Given the description of an element on the screen output the (x, y) to click on. 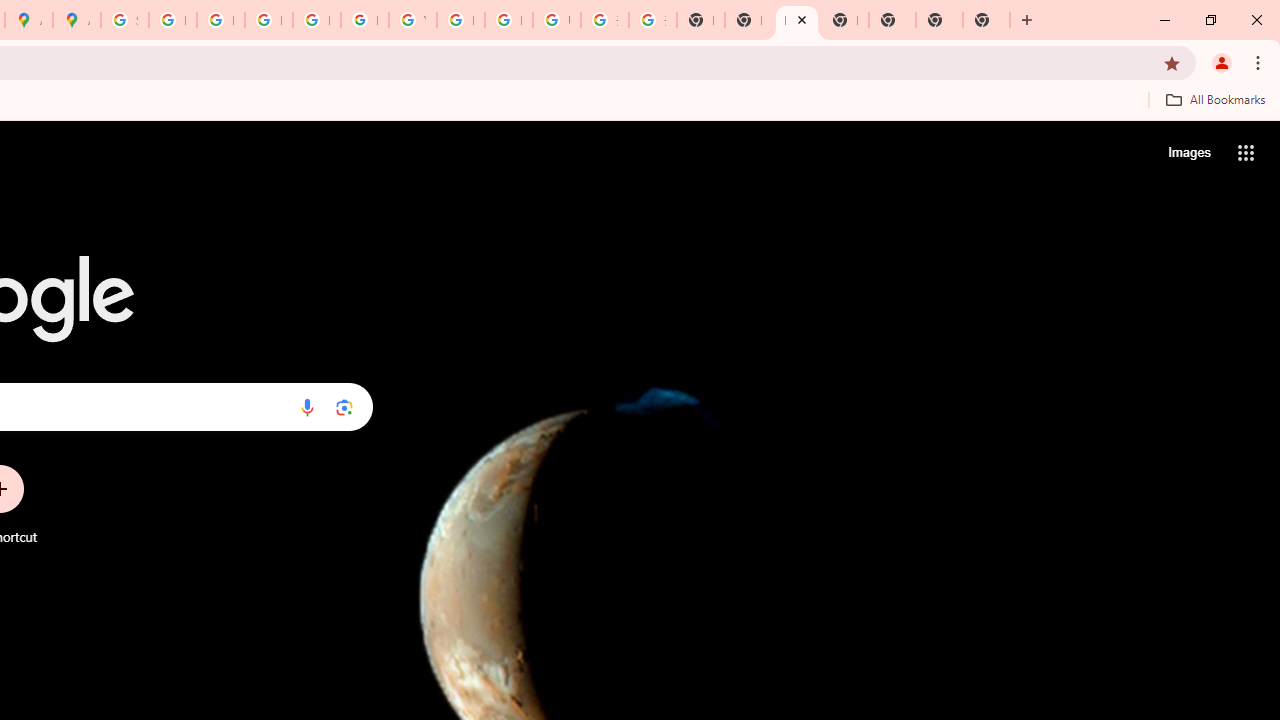
Sign in - Google Accounts (124, 20)
Browse Chrome as a guest - Computer - Google Chrome Help (460, 20)
New Tab (985, 20)
Privacy Help Center - Policies Help (268, 20)
Search by image (344, 407)
Search by voice (307, 407)
